Given the description of an element on the screen output the (x, y) to click on. 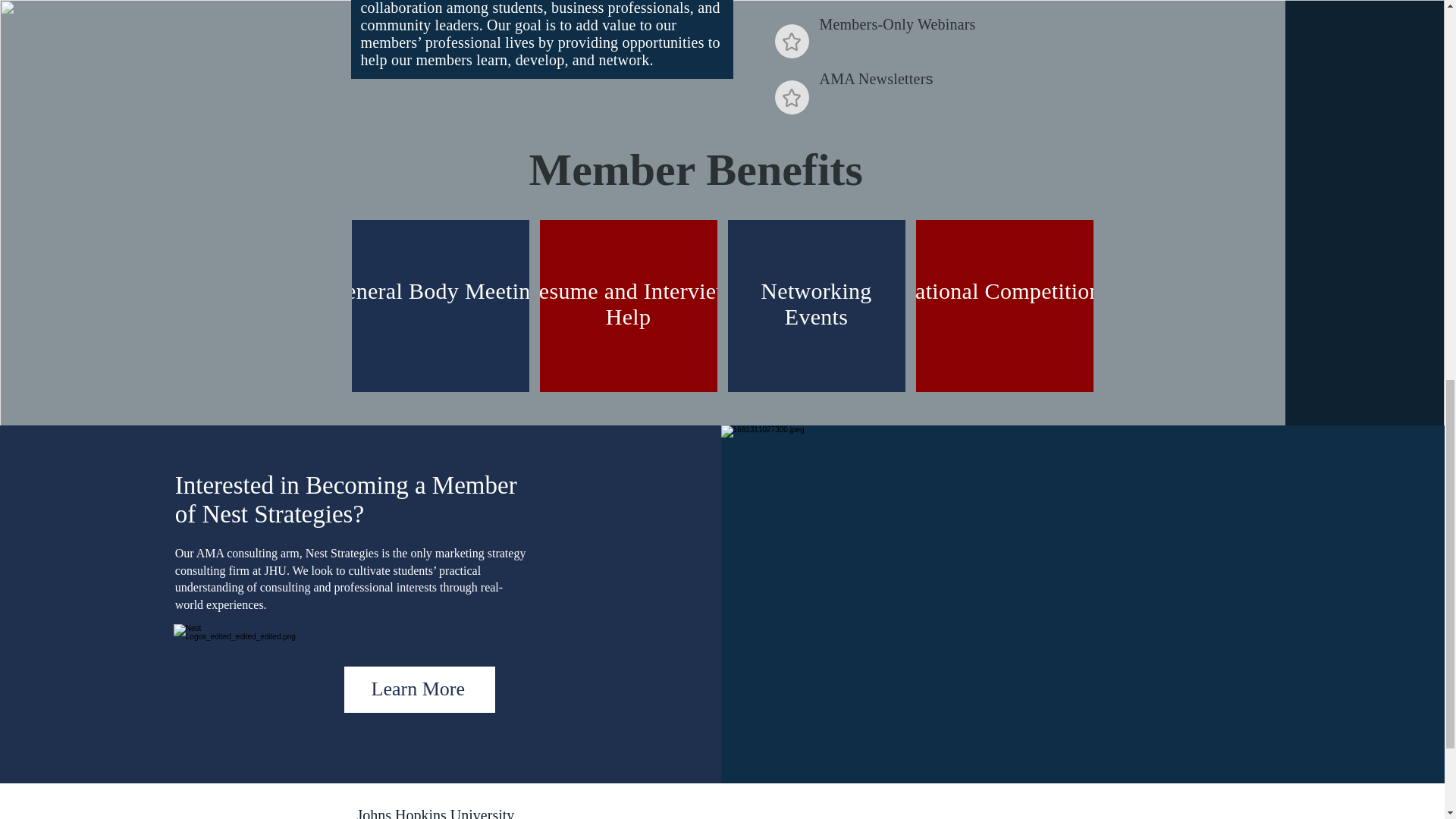
Learn More (419, 689)
